Given the description of an element on the screen output the (x, y) to click on. 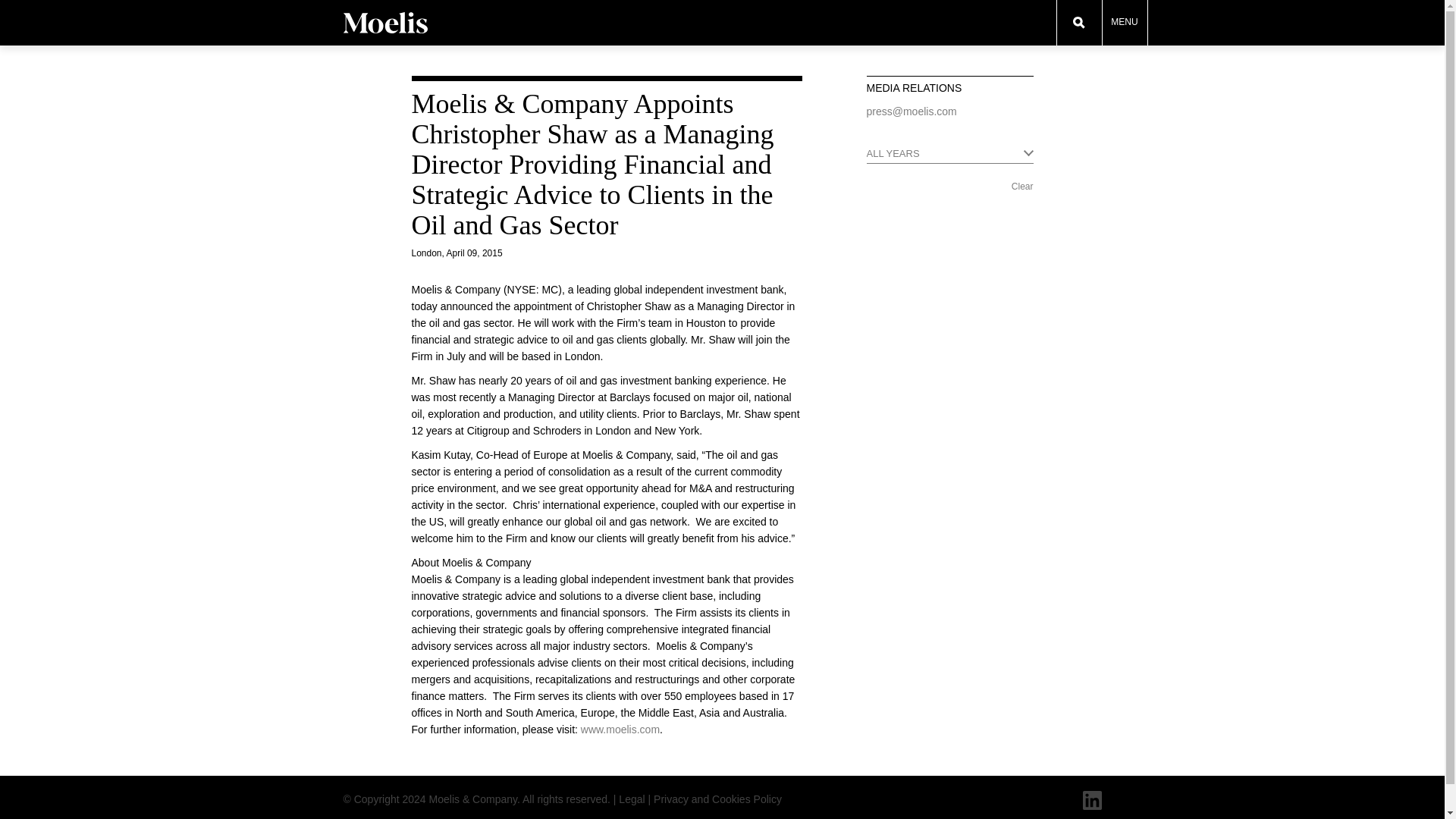
www.moelis.com (619, 729)
Legal (631, 799)
Clear (1022, 186)
Strategic Alliances (1268, 2)
